Given the description of an element on the screen output the (x, y) to click on. 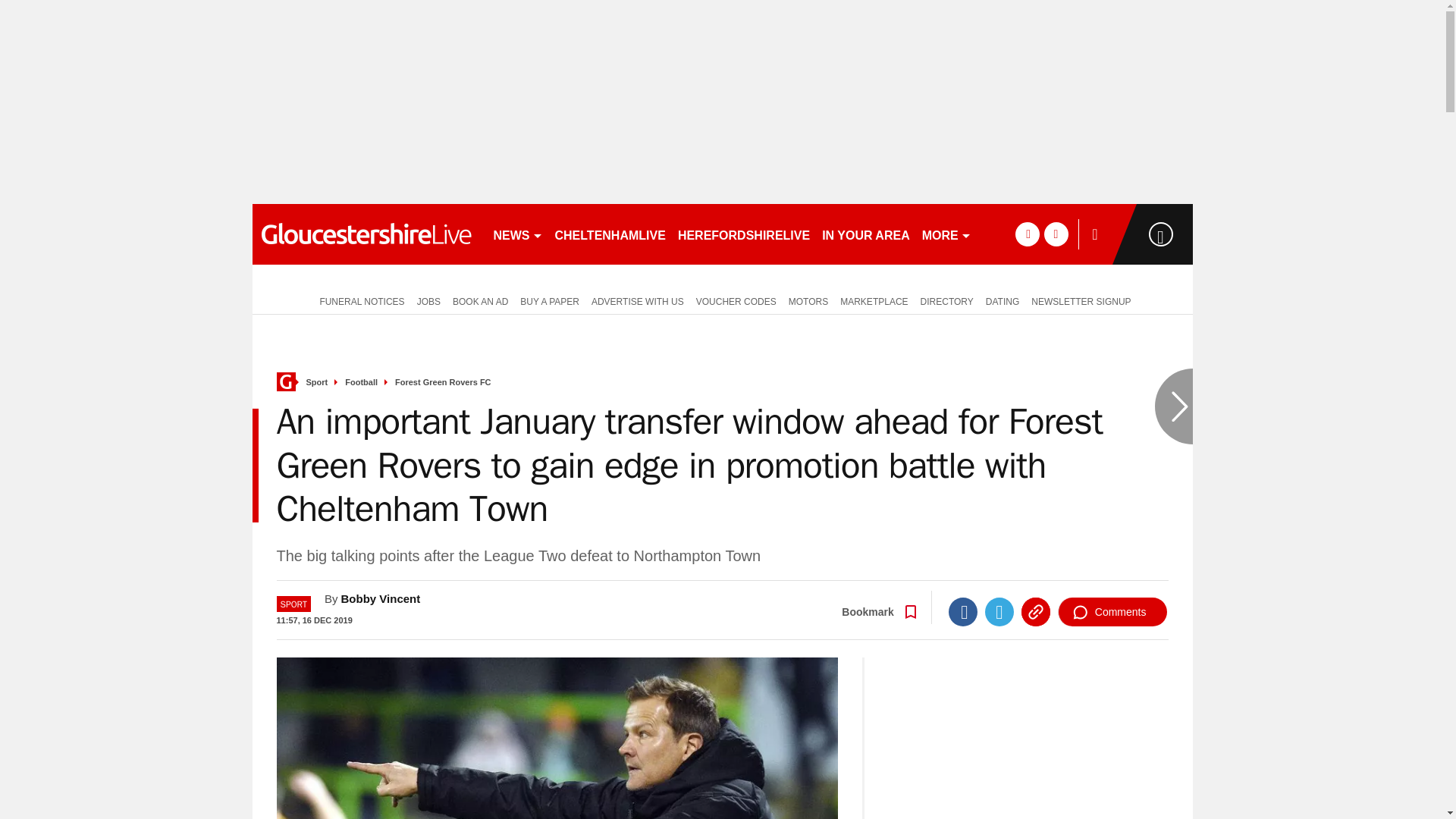
MORE (945, 233)
HEREFORDSHIRELIVE (743, 233)
Comments (1112, 611)
IN YOUR AREA (865, 233)
CHELTENHAMLIVE (609, 233)
gloucestershirelive (365, 233)
facebook (1026, 233)
twitter (1055, 233)
NEWS (517, 233)
Facebook (962, 611)
Twitter (999, 611)
